Given the description of an element on the screen output the (x, y) to click on. 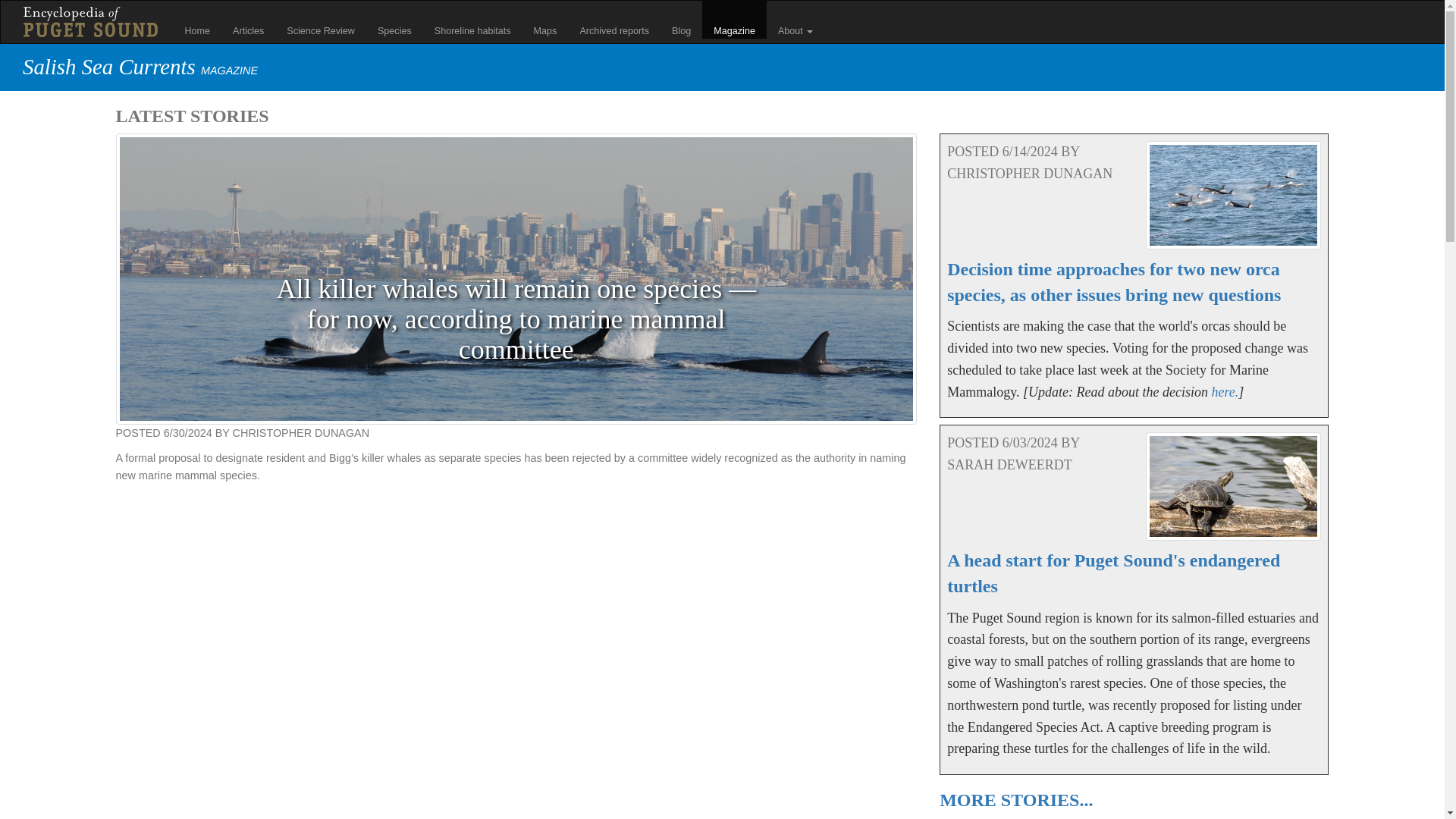
Magazine (734, 19)
Maps (545, 19)
Articles (248, 19)
Archived reports (614, 19)
Go to EoPS homepage (90, 21)
Shoreline habitats (472, 19)
here. (1225, 391)
Blog (681, 19)
Species (394, 19)
Science Review (320, 19)
Home (197, 19)
Home (98, 21)
A head start for Puget Sound's endangered turtles (1113, 573)
